Given the description of an element on the screen output the (x, y) to click on. 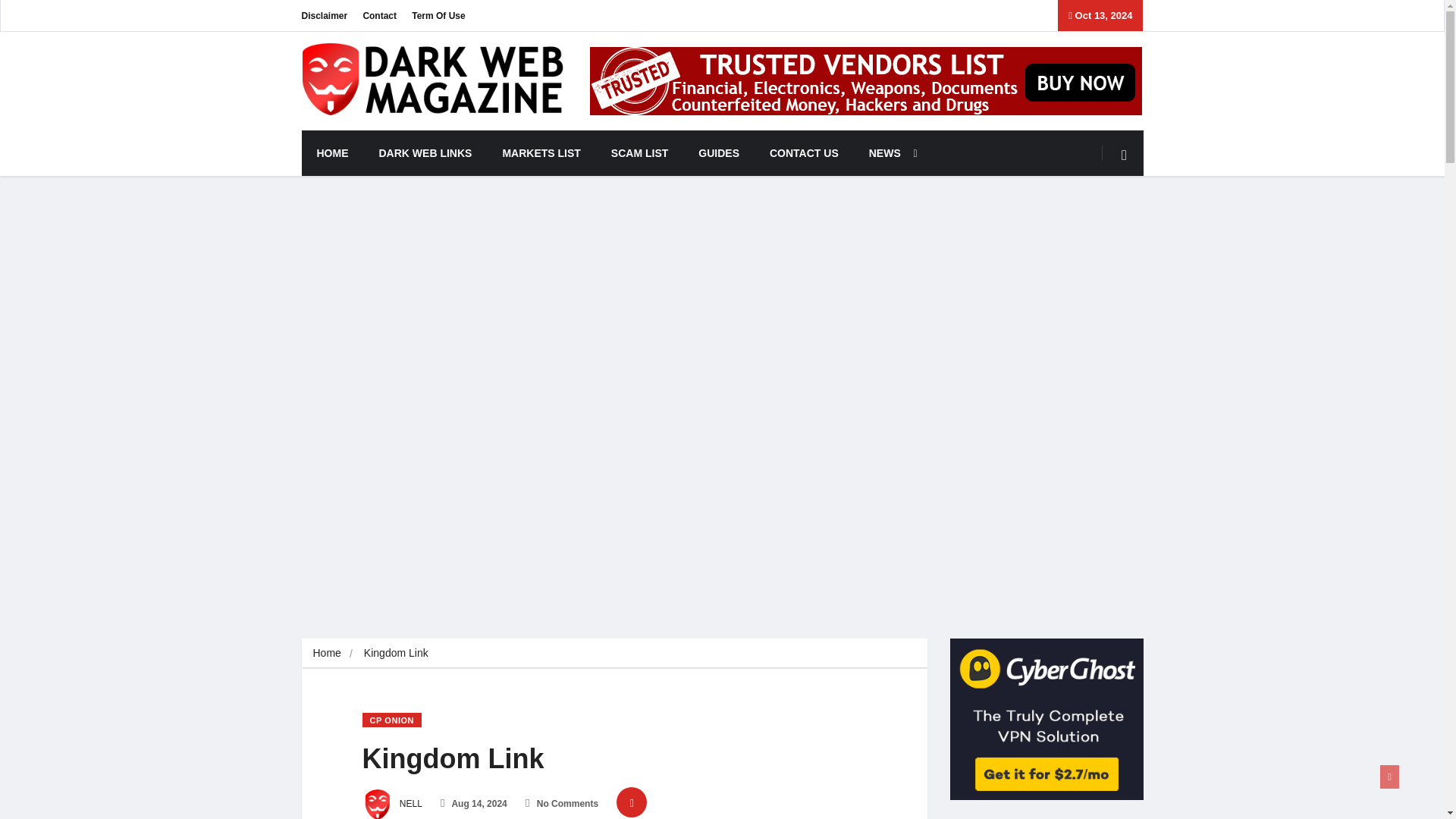
Disclaimer (324, 15)
GUIDES (718, 153)
Contact (379, 15)
CP ONION (392, 719)
HOME (332, 153)
NELL (392, 803)
CONTACT US (803, 153)
SCAM LIST (638, 153)
MARKETS LIST (540, 153)
Home (326, 653)
NEWS (888, 153)
Term Of Use (438, 15)
DARK WEB LINKS (425, 153)
